Given the description of an element on the screen output the (x, y) to click on. 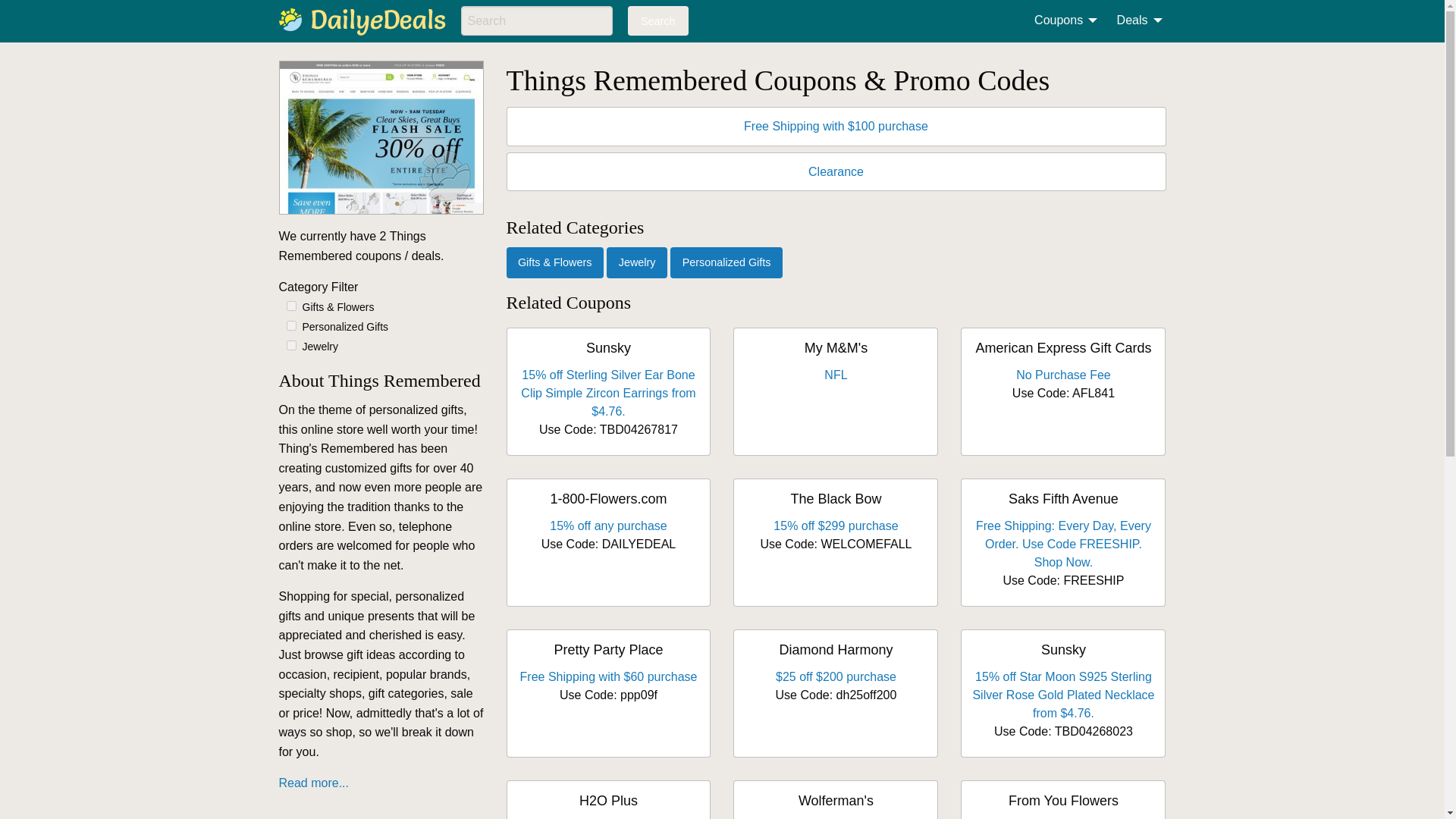
Search (657, 20)
American Express Gift Cards (1063, 347)
Coupons (1061, 20)
on (291, 325)
No Purchase Fee (1063, 374)
1-800-Flowers.com (608, 498)
NFL (835, 374)
Search (657, 20)
Saks Fifth Avenue (1063, 498)
Deals (1135, 20)
Wolferman's Coupons (835, 800)
on (291, 306)
on (291, 345)
Jewelry (636, 262)
